Given the description of an element on the screen output the (x, y) to click on. 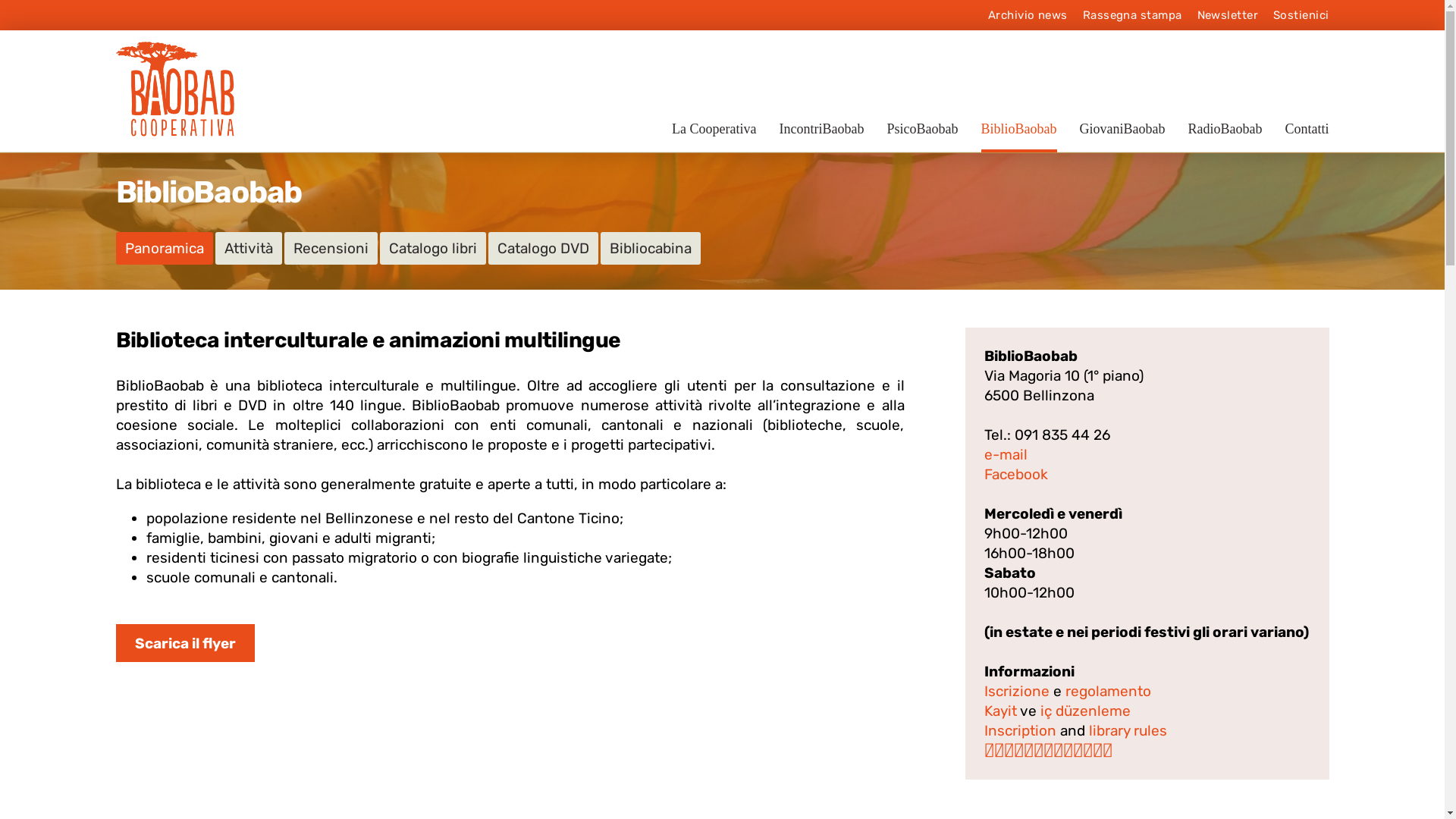
La Cooperativa Element type: text (713, 136)
BiblioBaobab Element type: text (1019, 136)
Cerca Element type: text (941, 308)
IncontriBaobab Element type: text (821, 136)
Scarica il flyer Element type: text (184, 643)
Archivio news Element type: text (1027, 15)
GiovaniBaobab Element type: text (1122, 136)
Sostienici Element type: text (1301, 15)
Catalogo DVD Element type: text (543, 248)
Rassegna stampa Element type: text (1132, 15)
Facebook Element type: text (1016, 474)
Kayit Element type: text (1001, 710)
RadioBaobab Element type: text (1225, 136)
  Element type: text (1113, 750)
library rules Element type: text (1127, 730)
Inscription Element type: text (1020, 730)
Catalogo libri Element type: text (432, 248)
regolamento Element type: text (1107, 690)
Bibliocabina Element type: text (650, 248)
Iscrizione Element type: text (1016, 690)
Panoramica Element type: text (163, 248)
e-mail Element type: text (1005, 454)
PsicoBaobab Element type: text (922, 136)
Newsletter Element type: text (1227, 15)
Contatti Element type: text (1306, 136)
Recensioni Element type: text (329, 248)
